Given the description of an element on the screen output the (x, y) to click on. 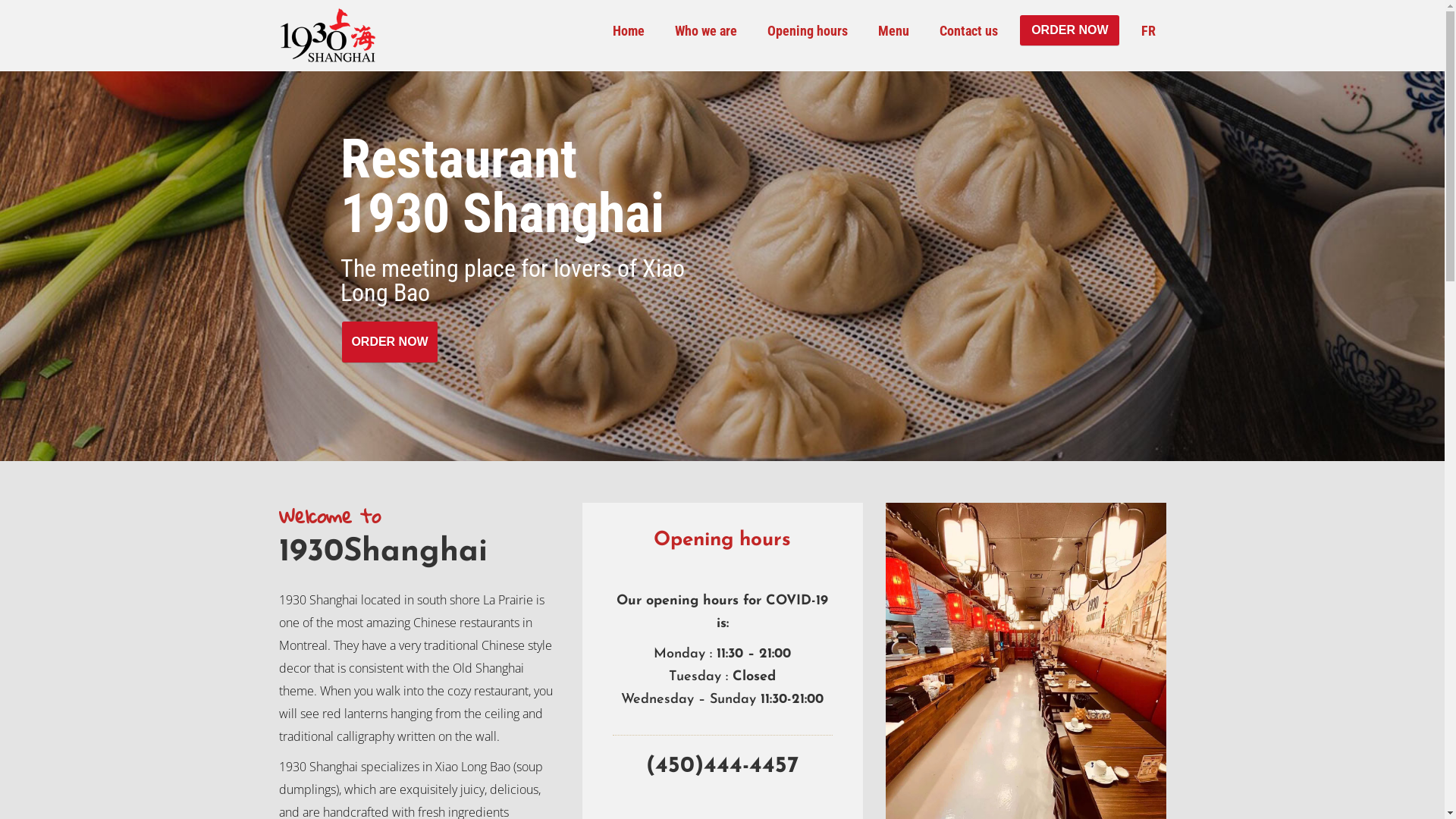
FR Element type: text (1148, 30)
Who we are Element type: text (705, 30)
www.sy5.io Element type: text (517, 787)
Contact us Element type: text (968, 30)
Menu Element type: text (893, 30)
Home Element type: text (628, 30)
Opening hours Element type: text (807, 30)
